Given the description of an element on the screen output the (x, y) to click on. 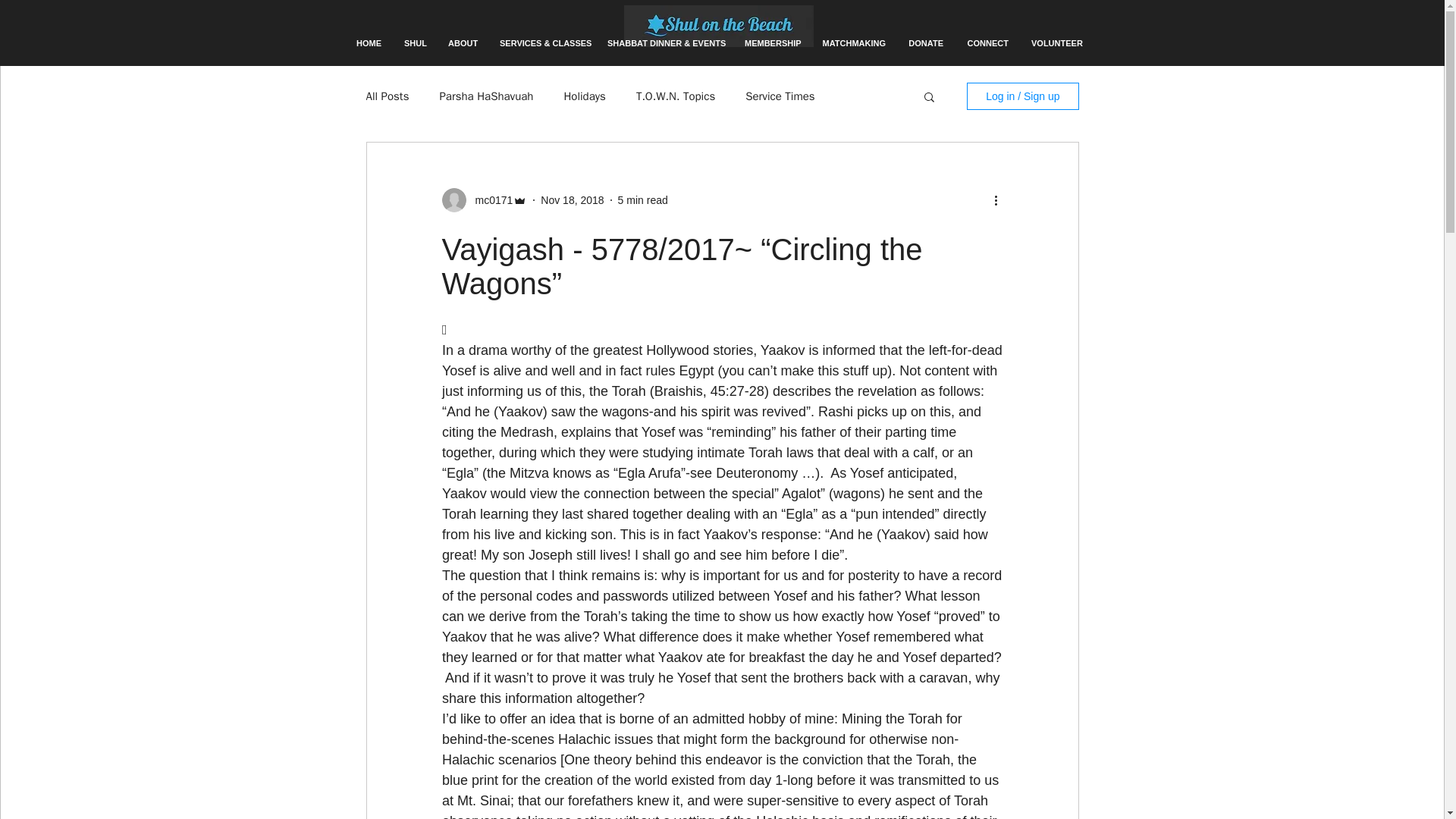
Nov 18, 2018 (572, 200)
Service Times (779, 96)
5 min read (642, 200)
MEMBERSHIP (771, 43)
VOLUNTEER (1056, 43)
MATCHMAKING (852, 43)
T.O.W.N. Topics (675, 96)
Holidays (584, 96)
SHUL (414, 43)
CONNECT (987, 43)
Parsha HaShavuah (485, 96)
All Posts (387, 96)
DONATE (925, 43)
mc0171 (488, 200)
HOME (368, 43)
